Given the description of an element on the screen output the (x, y) to click on. 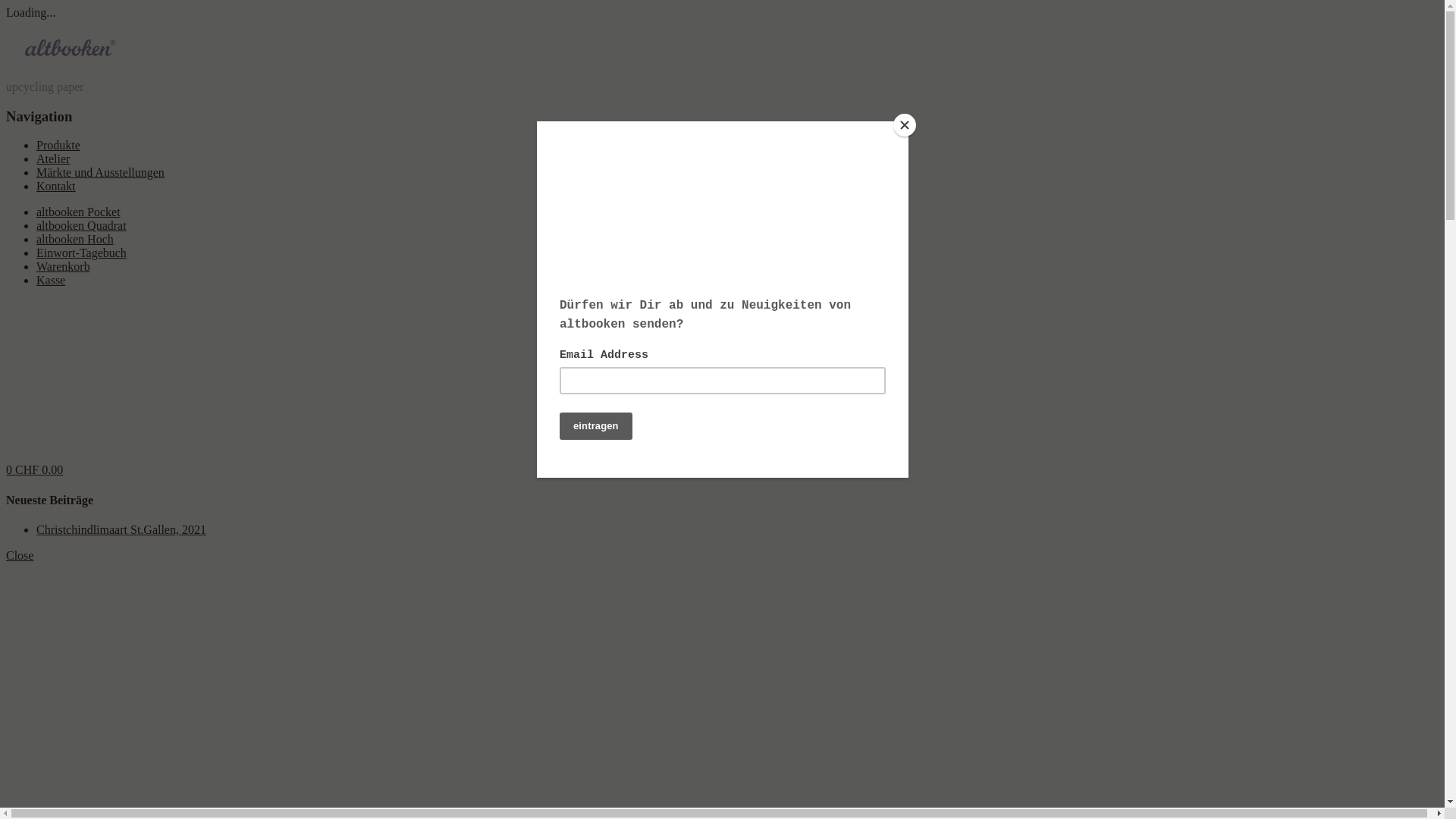
Produkte Element type: text (58, 144)
IMG_20150717_183239 Element type: hover (6, 404)
Kasse Element type: text (50, 279)
schneidemaschine Element type: hover (6, 418)
Atelier Element type: text (52, 158)
altbooken Quadrat Element type: text (81, 225)
Christchindlimaart St.Gallen, 2021 Element type: text (121, 529)
altbooken Hoch Element type: text (74, 238)
praegung Element type: hover (6, 391)
schneider2 Element type: hover (6, 377)
lager Element type: hover (6, 432)
altbooken Pocket Element type: text (78, 211)
praegung Element type: hover (6, 323)
praegung Element type: hover (6, 309)
einzeiler_rohweb Element type: hover (6, 459)
stapel_w Element type: hover (6, 350)
Einwort-Tagebuch Element type: text (81, 252)
stapelschneider Element type: hover (6, 336)
stilleben_altbooken Element type: hover (6, 445)
0 CHF 0.00 Element type: text (34, 469)
atelierstreifen Element type: hover (6, 364)
Kontakt Element type: text (55, 185)
Warenkorb Element type: text (63, 266)
